Given the description of an element on the screen output the (x, y) to click on. 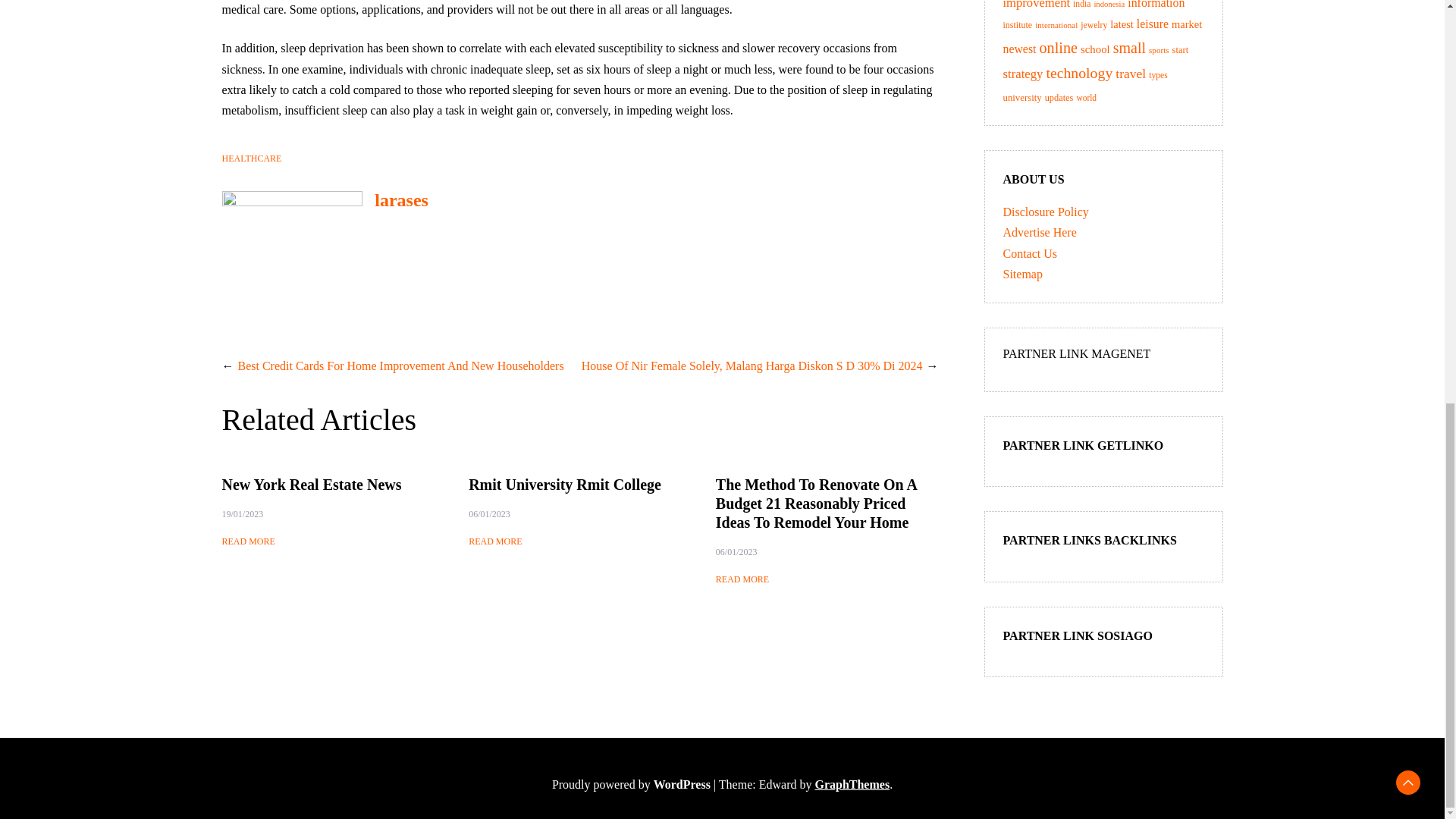
READ MORE (742, 579)
larases (401, 199)
READ MORE (248, 540)
READ MORE (494, 540)
HEALTHCARE (251, 158)
New York Real Estate News (311, 484)
Best Credit Cards For Home Improvement And New Householders (401, 365)
Rmit University Rmit College (564, 484)
